Given the description of an element on the screen output the (x, y) to click on. 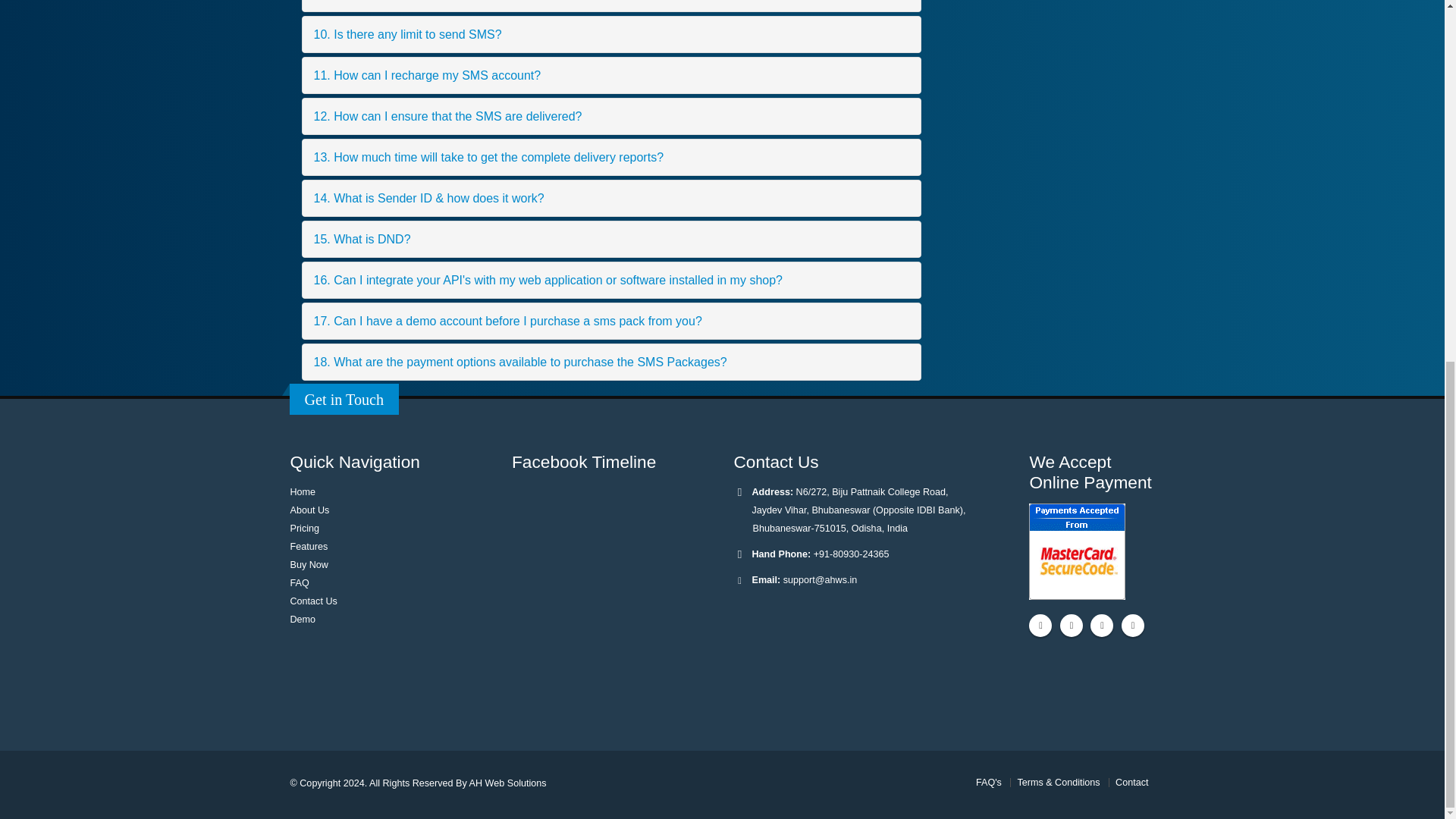
Whatapp (1132, 625)
12. How can I ensure that the SMS are delivered? (610, 116)
Buy Now (308, 564)
Features (308, 546)
Twitter (1071, 625)
About Us (309, 510)
10. Is there any limit to send SMS? (610, 34)
